Given the description of an element on the screen output the (x, y) to click on. 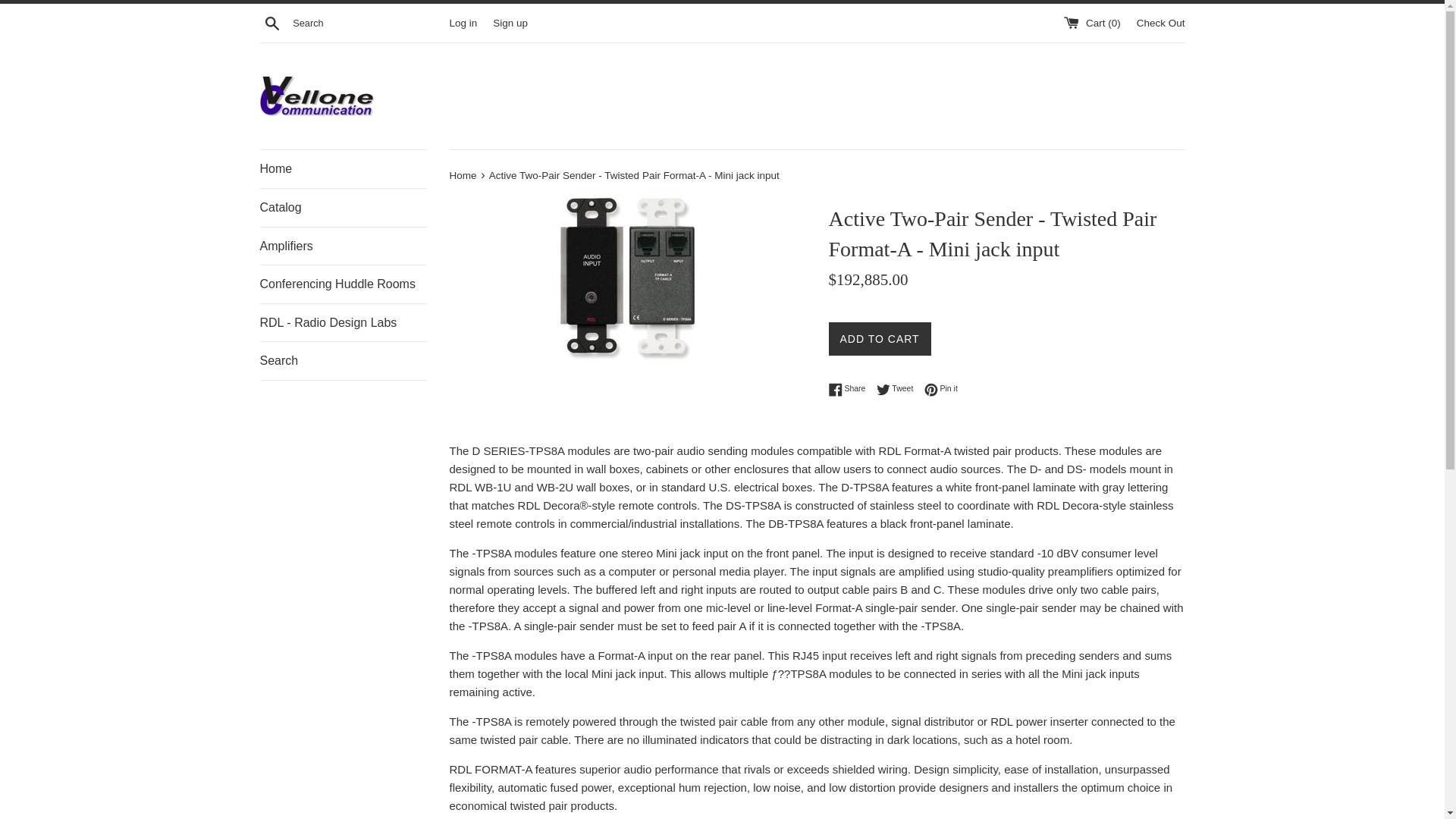
Log in (850, 388)
Amplifiers (898, 388)
Sign up (462, 21)
Tweet on Twitter (342, 246)
Search (510, 21)
Back to the frontpage (898, 388)
Share on Facebook (271, 21)
